Given the description of an element on the screen output the (x, y) to click on. 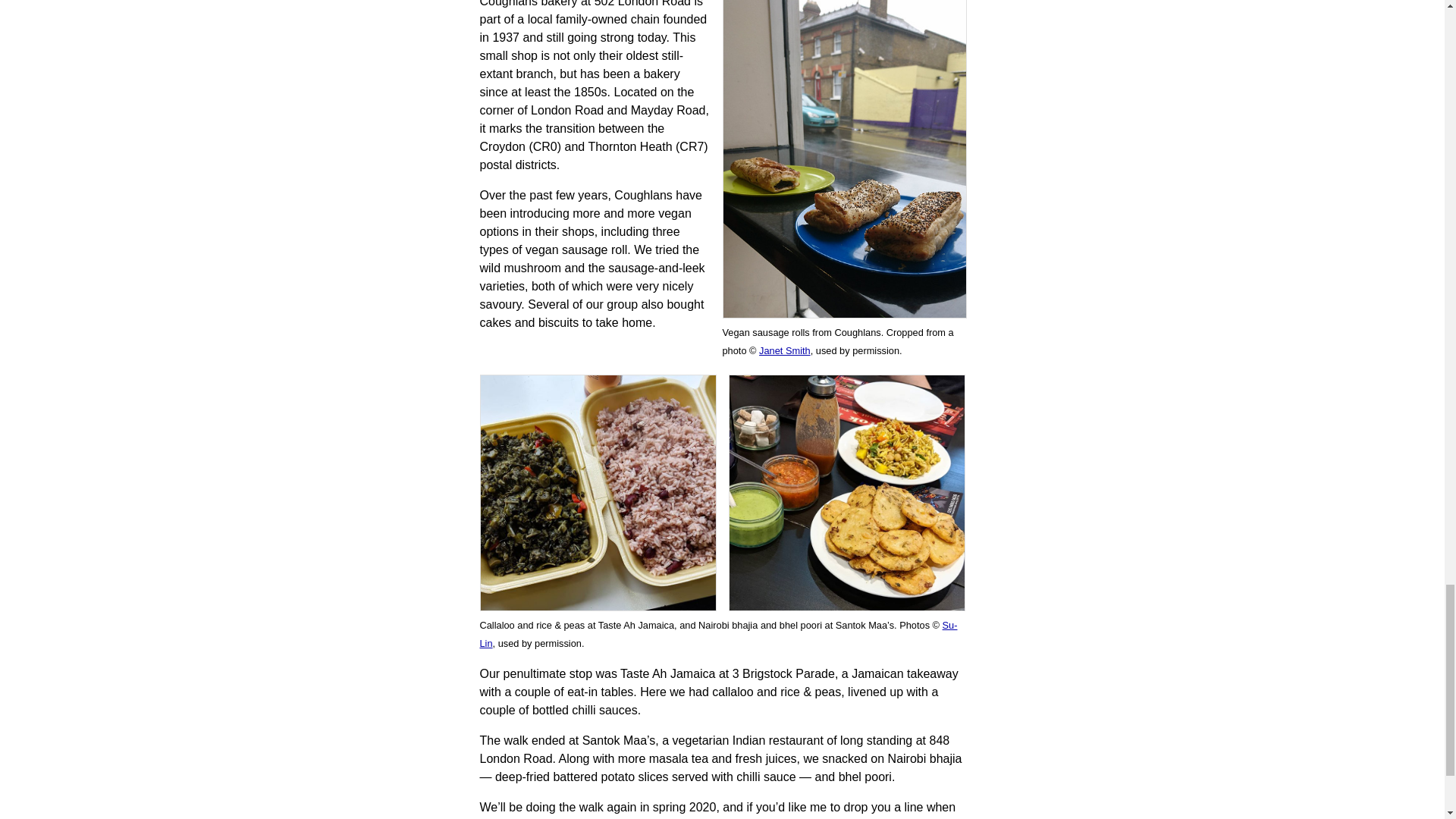
Su-Lin (717, 634)
Janet Smith (784, 350)
